Given the description of an element on the screen output the (x, y) to click on. 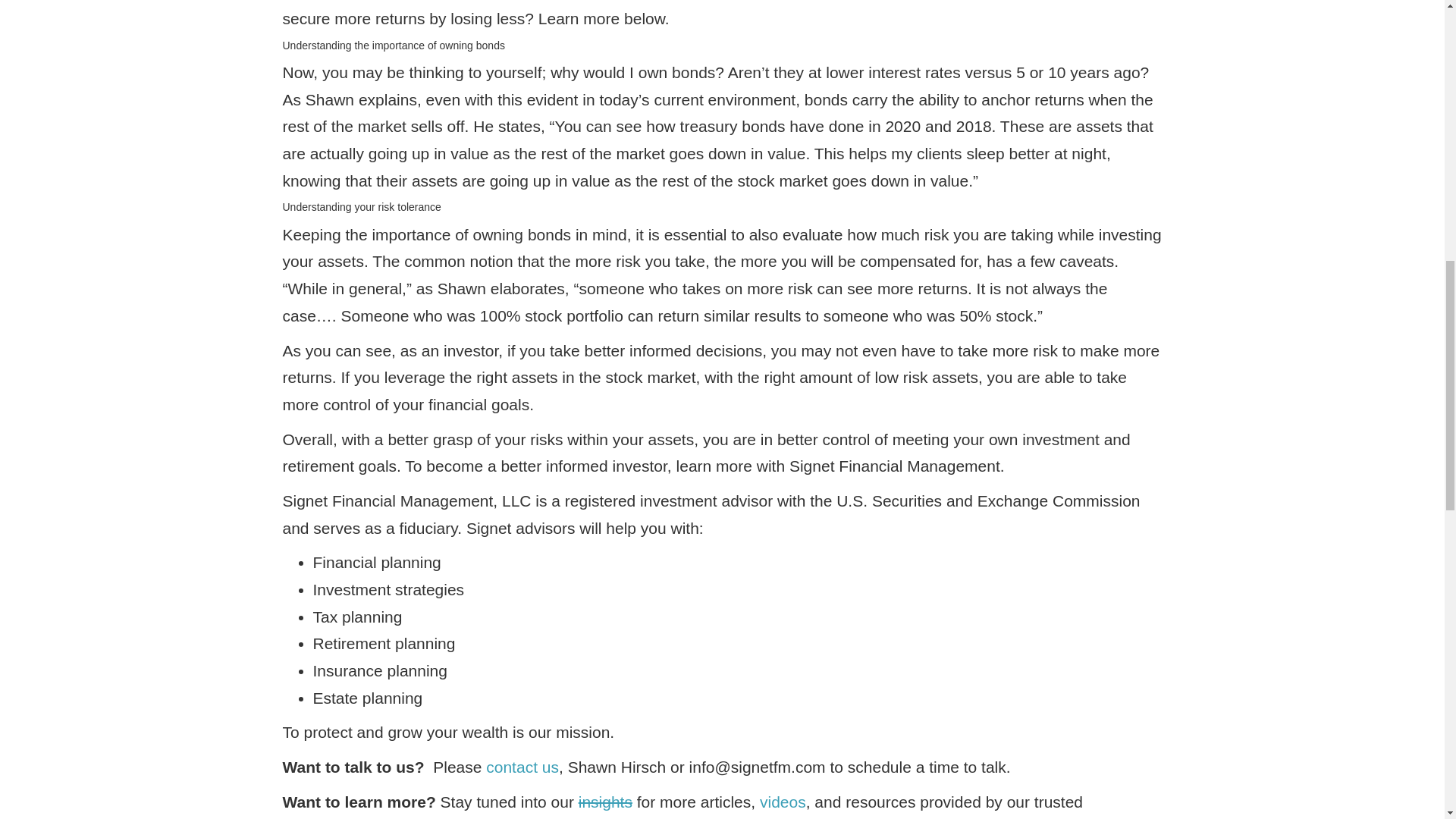
insights (604, 801)
contact us (522, 766)
videos (783, 801)
